Given the description of an element on the screen output the (x, y) to click on. 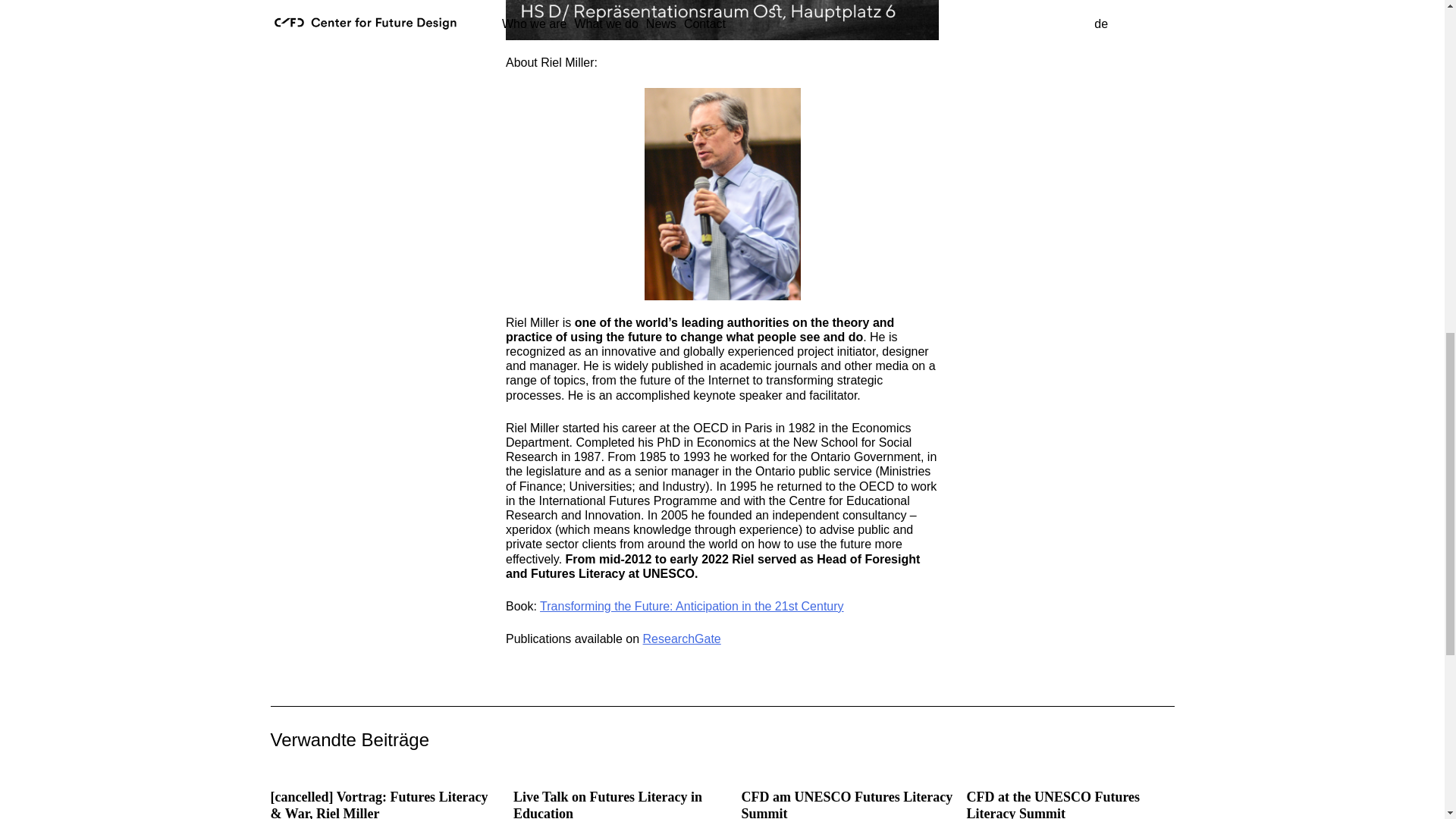
CFD at the UNESCO Futures Literacy Summit (1053, 804)
ResearchGate (681, 638)
Transforming the Future: Anticipation in the 21st Century (692, 605)
CFD am UNESCO Futures Literacy Summit (847, 804)
Live Talk on Futures Literacy in Education (607, 804)
